Given the description of an element on the screen output the (x, y) to click on. 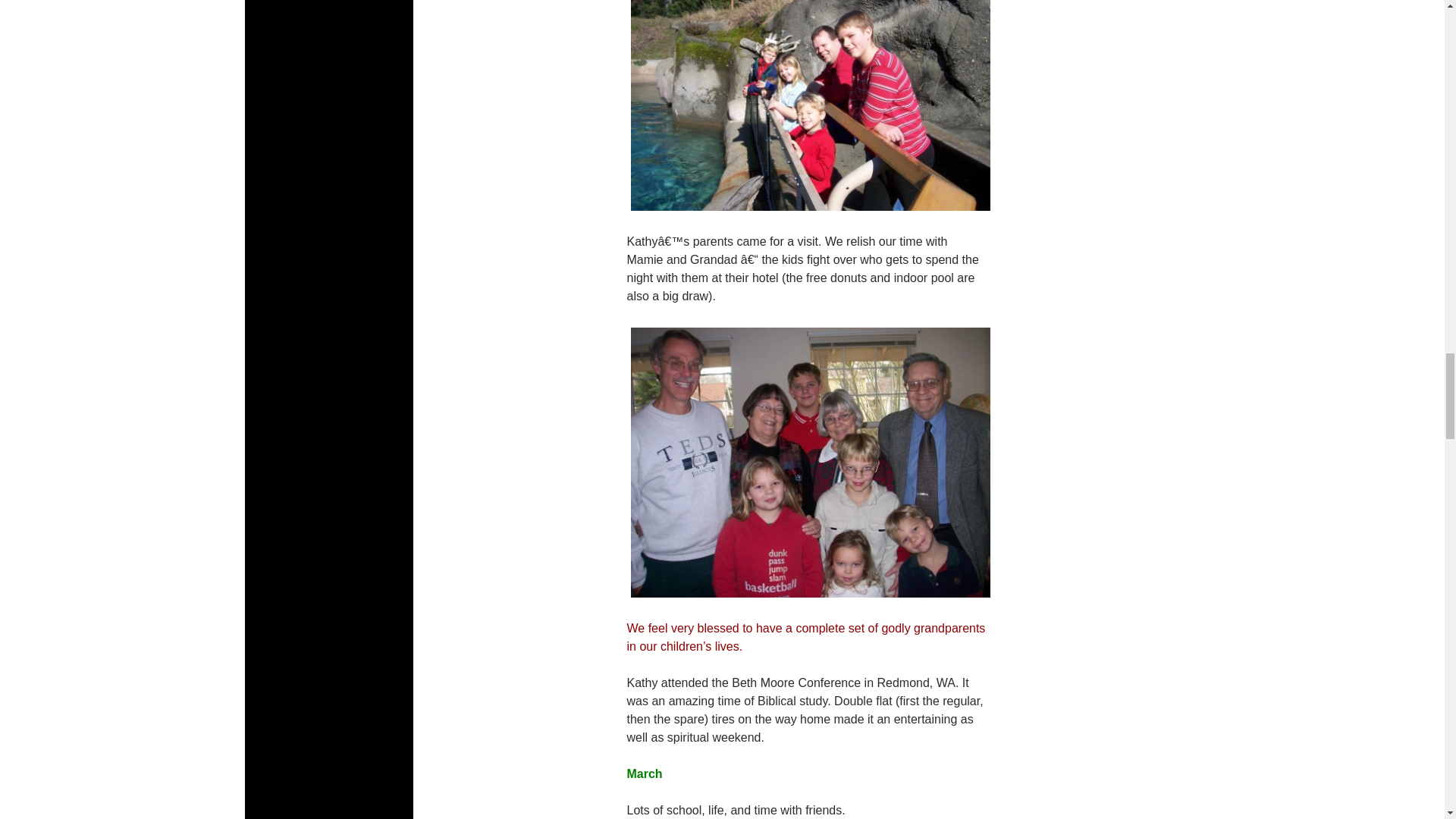
time to go to the zoo (809, 107)
both grandparents and all the kiddos (809, 462)
